Given the description of an element on the screen output the (x, y) to click on. 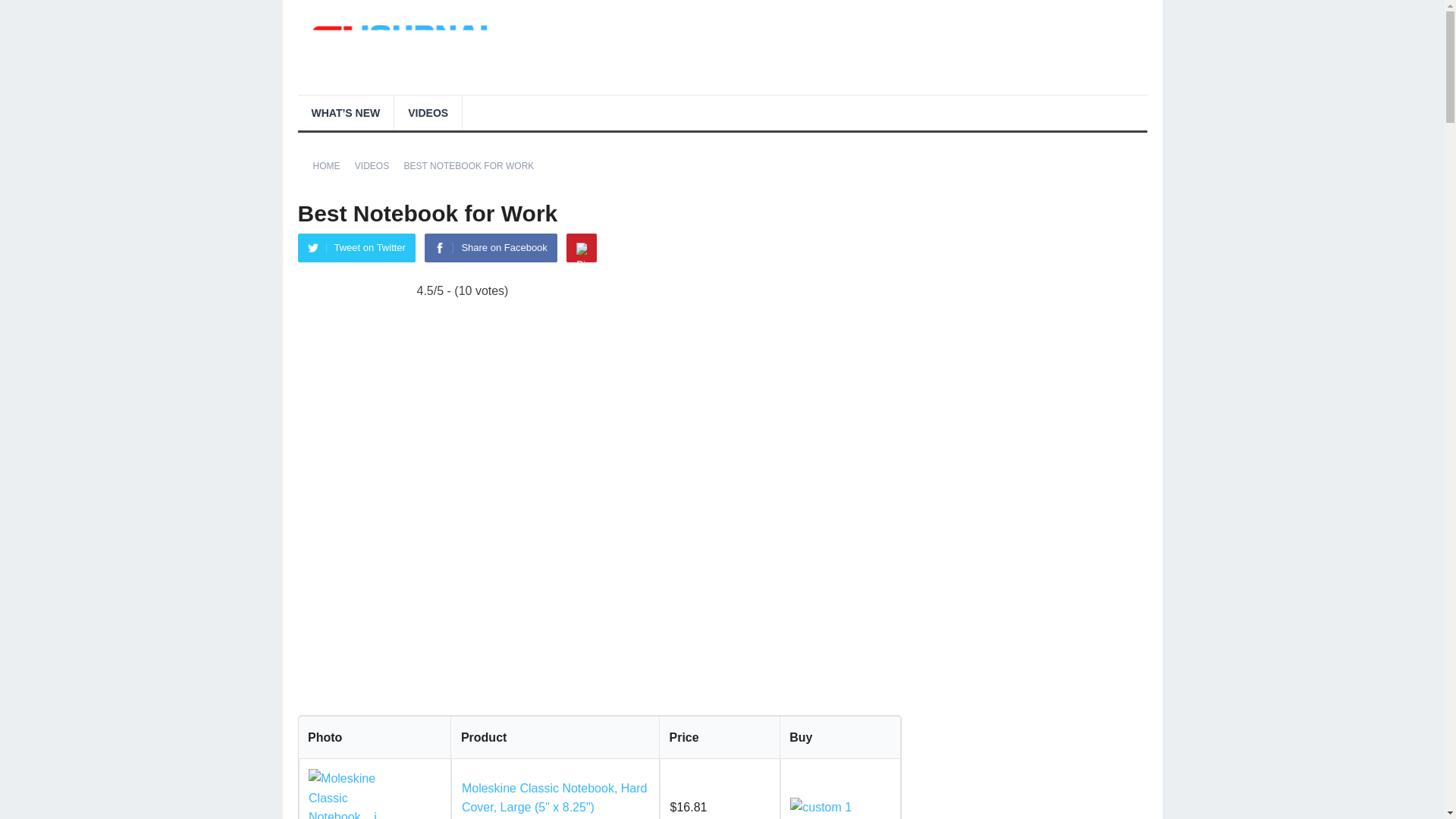
View all posts in Videos (376, 165)
Pinterest (581, 247)
Tweet on Twitter (355, 247)
VIDEOS (427, 112)
Share on Facebook (490, 247)
Buy On Amazon (820, 807)
VIDEOS (376, 165)
HOME (331, 165)
Best Notebook for Work 4 (346, 794)
